Given the description of an element on the screen output the (x, y) to click on. 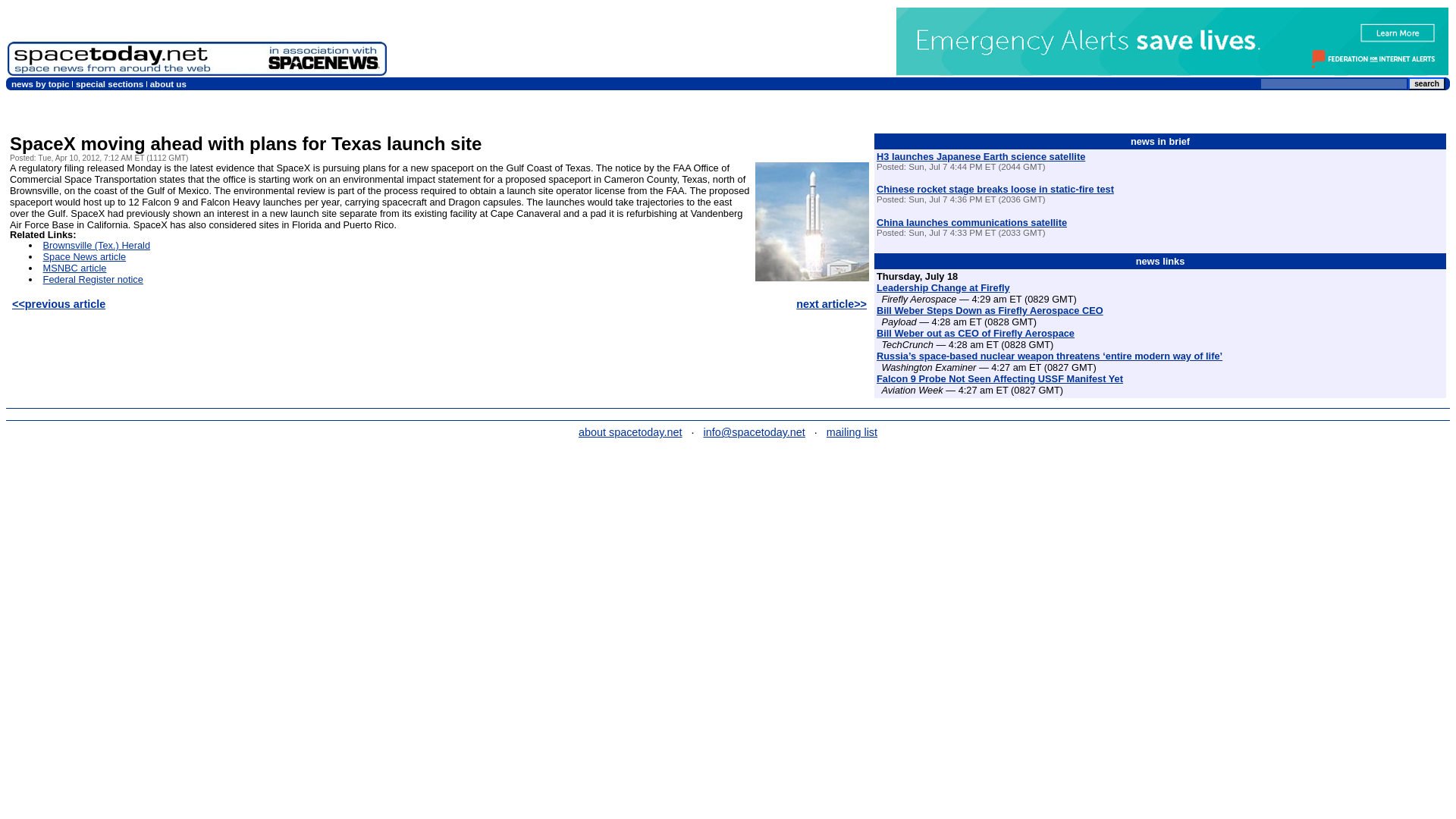
learn what spacetoday.net is all about (630, 431)
China launches communications satellite (971, 222)
Bill Weber out as CEO of Firefly Aerospace (975, 333)
News links by category (39, 83)
Federal Register notice (92, 279)
about us (167, 83)
Falcon 9 Probe Not Seen Affecting USSF Manifest Yet (999, 378)
about spacetoday.net (630, 431)
get email updates about the latest events at spacetoday.net (852, 431)
search (1426, 83)
Background information about spacetoday.net (167, 83)
H3 launches Japanese Earth science satellite (980, 156)
MSNBC article (74, 267)
search (1426, 83)
